Given the description of an element on the screen output the (x, y) to click on. 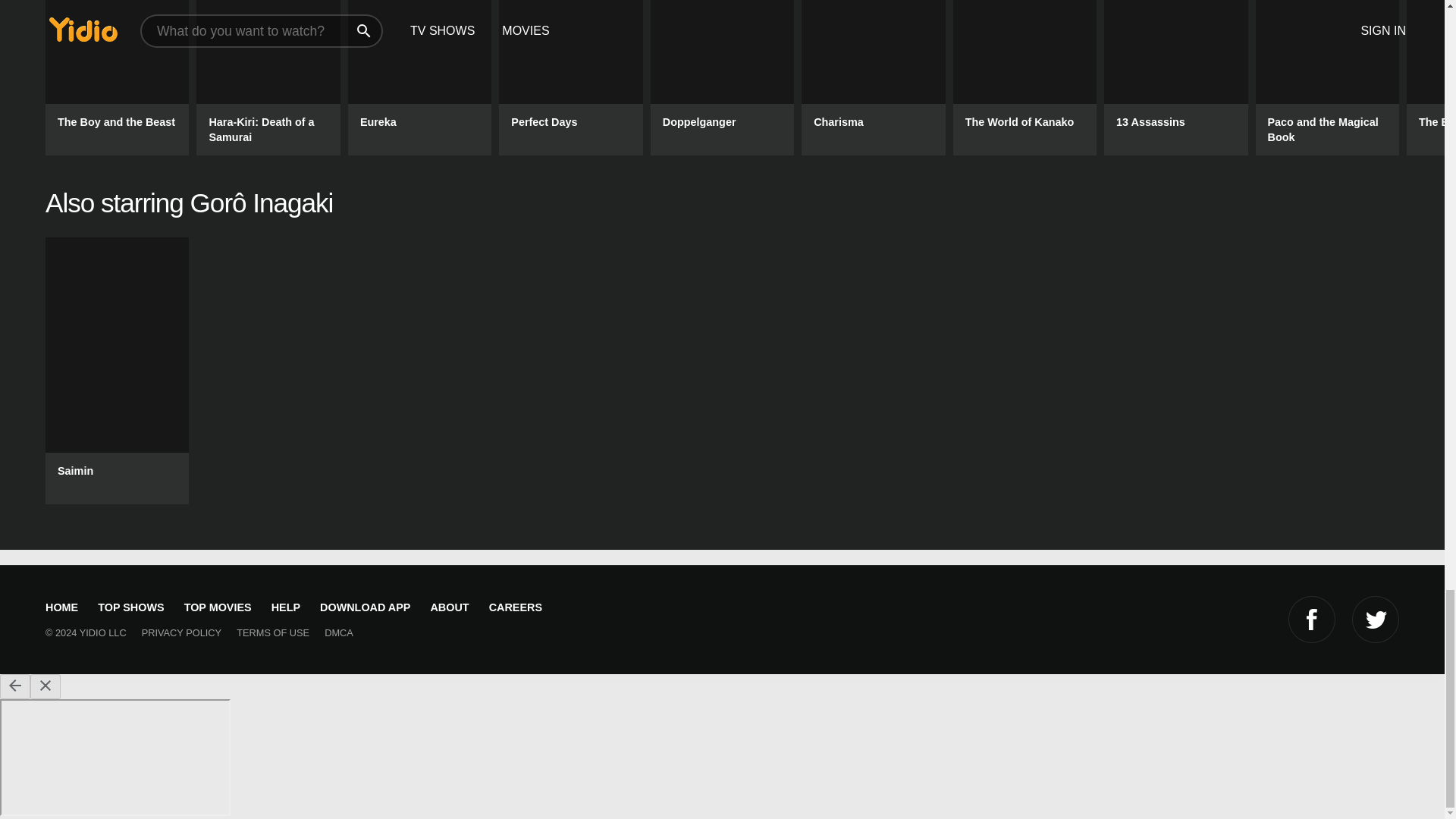
Hara-Kiri: Death of a Samurai (267, 77)
The World of Kanako (1024, 77)
13 Assassins (1175, 77)
Facebook (1311, 619)
Twitter (1375, 619)
Charisma (873, 77)
Perfect Days (570, 77)
Paco and the Magical Book (1327, 77)
The Boy and the Beast (117, 77)
Doppelganger (721, 77)
Eureka (419, 77)
